Given the description of an element on the screen output the (x, y) to click on. 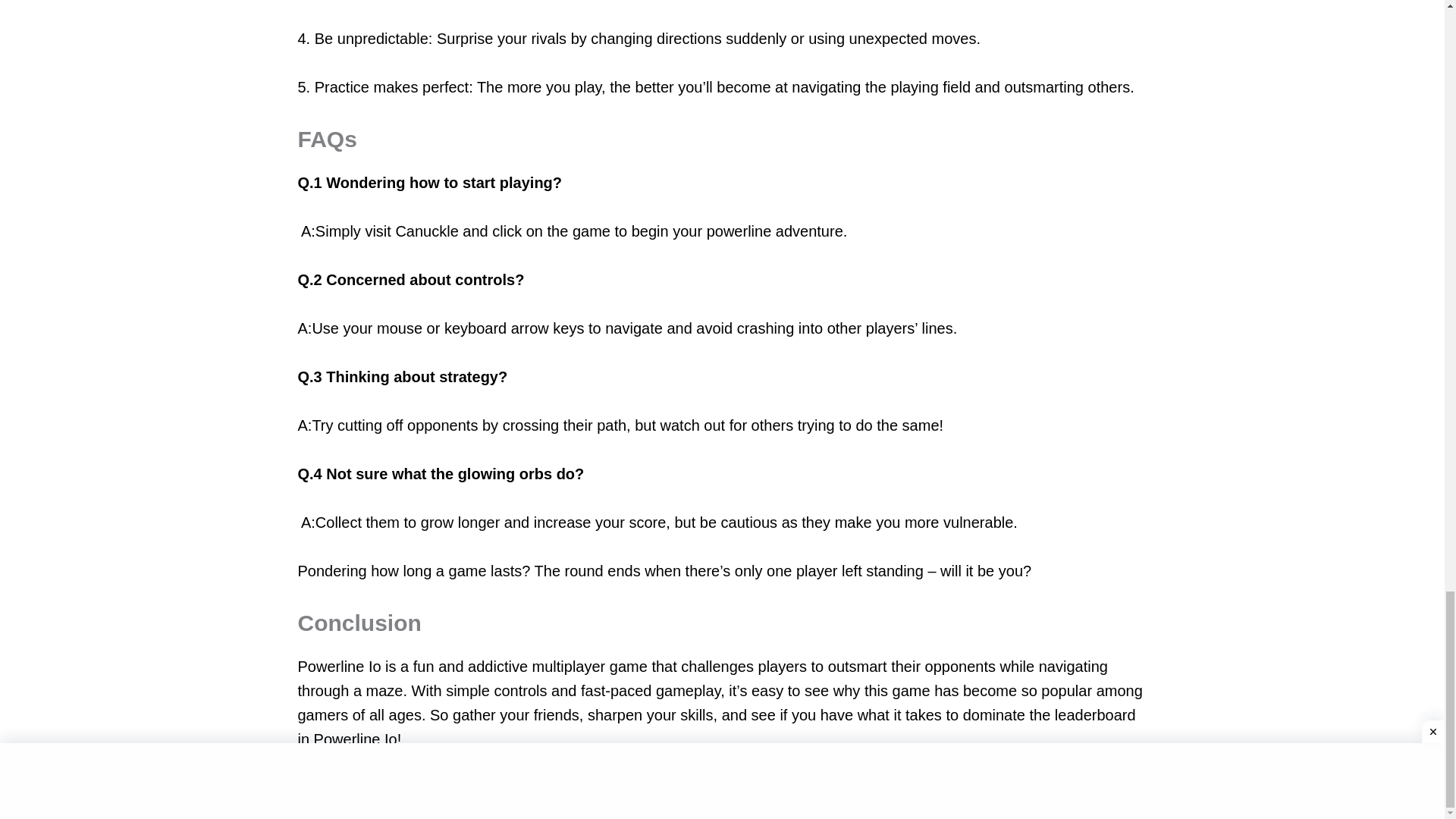
Terms Conditions (895, 800)
Privacy Policy (722, 800)
Disclaimer (1067, 800)
Contact Us (548, 800)
About Us (376, 800)
